Given the description of an element on the screen output the (x, y) to click on. 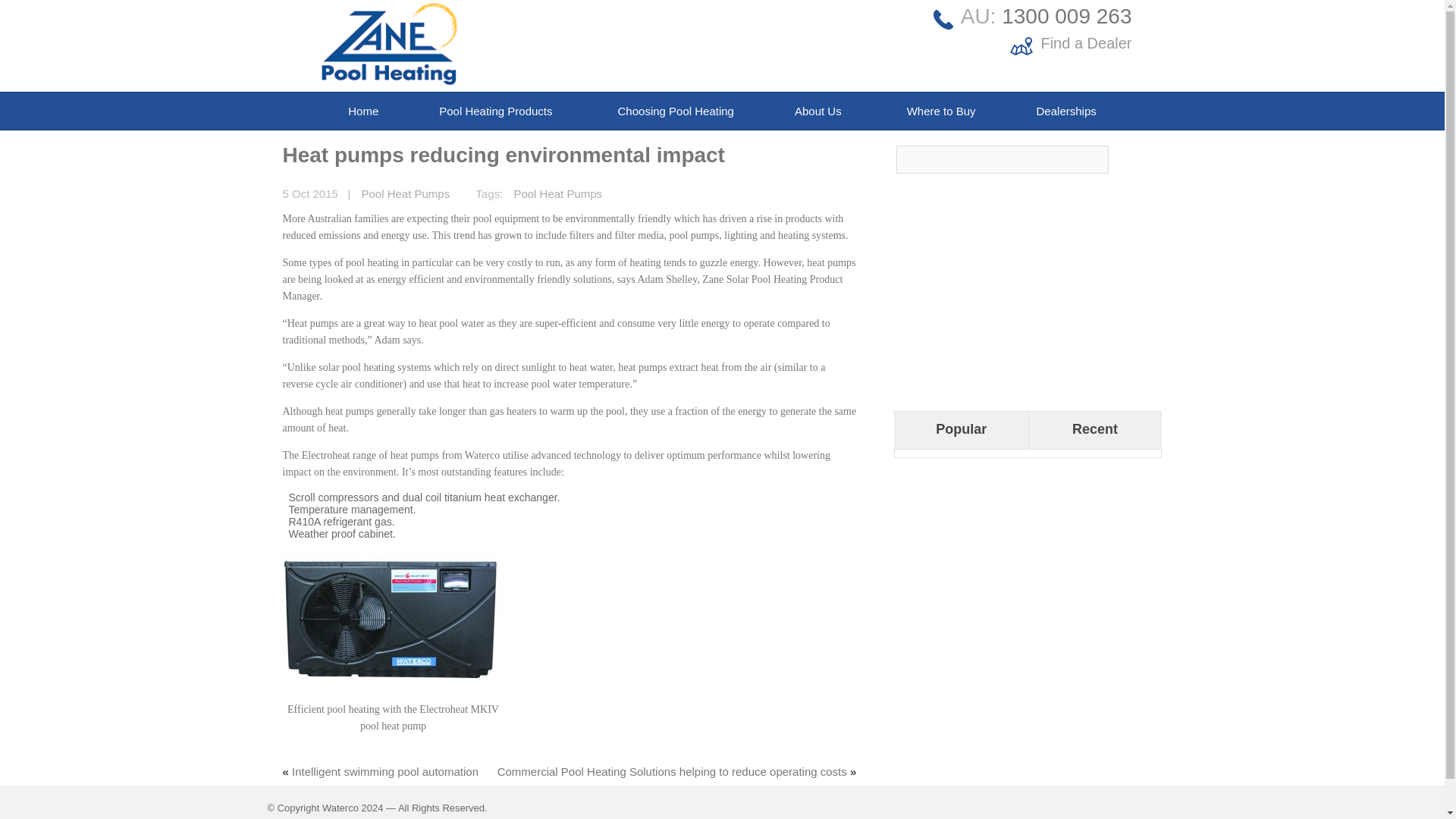
Pool Heating Products (497, 110)
search (1137, 158)
Heat pumps reducing environmental impact (502, 155)
About Us (820, 110)
Find a Dealer (1086, 43)
1300 009 263 (1066, 15)
Choosing Pool Heating (676, 110)
Home (363, 110)
